Given the description of an element on the screen output the (x, y) to click on. 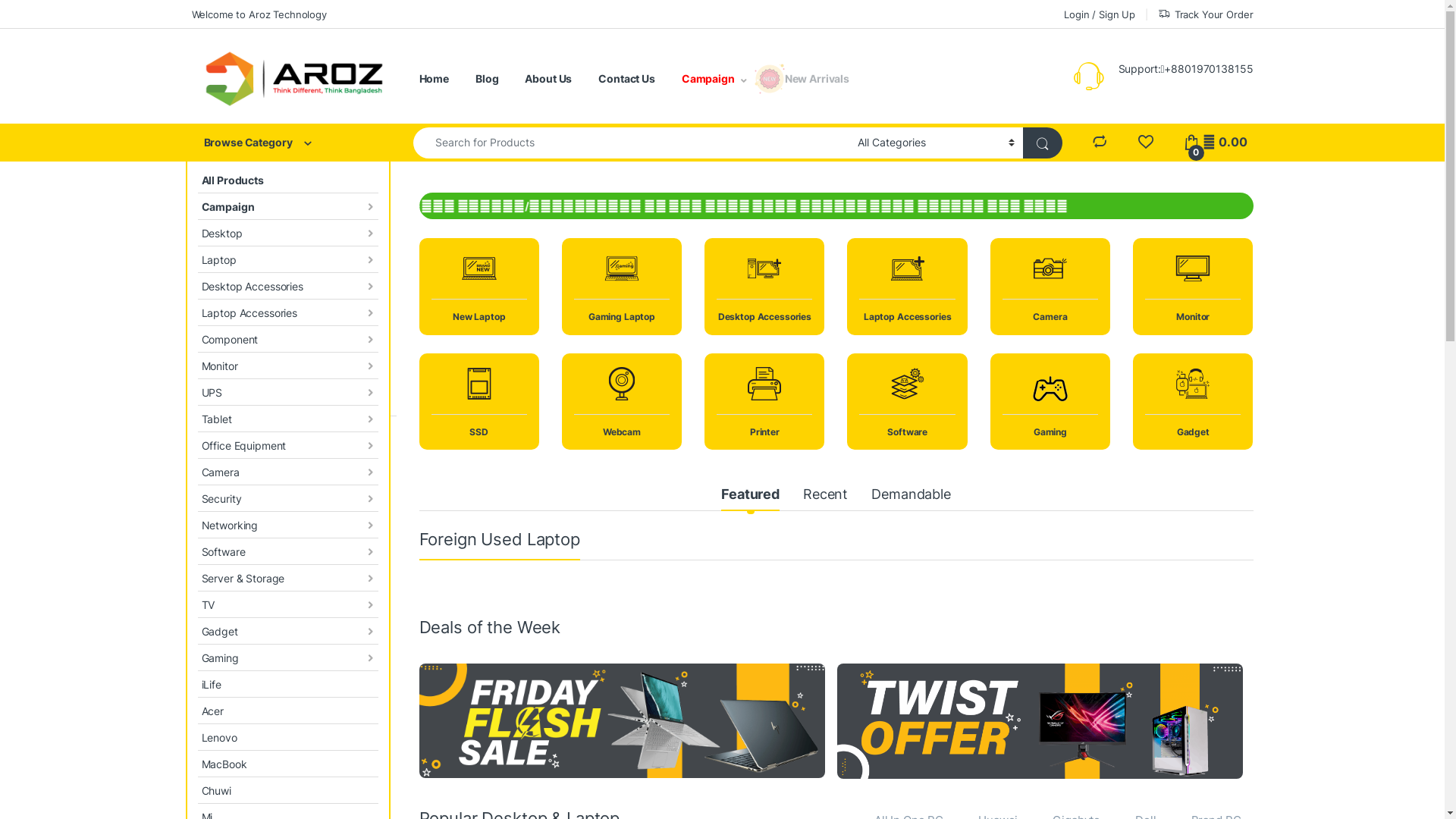
Component Element type: text (287, 339)
Desktop Accessories Element type: text (287, 286)
Gadget Element type: text (1192, 401)
Campaign Element type: text (287, 206)
Welcome to Aroz Technology Element type: text (258, 14)
Aroz Technology Bennar-one Element type: hover (621, 720)
Browse Category Element type: text (287, 142)
Gaming Element type: text (1050, 401)
Networking Element type: text (287, 524)
Security Element type: text (287, 498)
Gadget Element type: text (287, 631)
Camera Element type: text (287, 471)
Monitor Element type: text (287, 365)
Aroz Technology Bennar-two Element type: hover (1039, 720)
Gaming Element type: text (287, 657)
Desktop Element type: text (287, 232)
UPS Element type: text (287, 392)
Contact Us Element type: text (626, 78)
SSD Element type: text (478, 401)
Software Element type: text (287, 551)
Monitor Element type: text (1192, 286)
Laptop Element type: text (287, 259)
Campaign Element type: text (713, 78)
Printer Element type: text (764, 401)
Laptop Accessories Element type: text (906, 286)
Server & Storage Element type: text (287, 577)
MacBook Element type: text (287, 763)
TV Element type: text (287, 604)
Track Your Order Element type: text (1205, 14)
Chuwi Element type: text (287, 790)
Desktop Accessories Element type: text (764, 286)
Featured Element type: text (750, 496)
Lenovo Element type: text (287, 737)
Acer Element type: text (287, 710)
Demandable Element type: text (910, 496)
Software Element type: text (906, 401)
All Products Element type: text (287, 179)
Tablet Element type: text (287, 418)
Webcam Element type: text (621, 401)
Laptop Accessories Element type: text (287, 312)
Login / Sign Up Element type: text (1099, 14)
Gaming Laptop Element type: text (621, 286)
Office Equipment Element type: text (287, 445)
About Us Element type: text (547, 78)
iLife Element type: text (287, 684)
New Arrivals Element type: text (816, 78)
New Laptop Element type: text (478, 286)
Blog Element type: text (486, 78)
Camera Element type: text (1050, 286)
Home Element type: text (433, 78)
Recent Element type: text (825, 496)
